Given the description of an element on the screen output the (x, y) to click on. 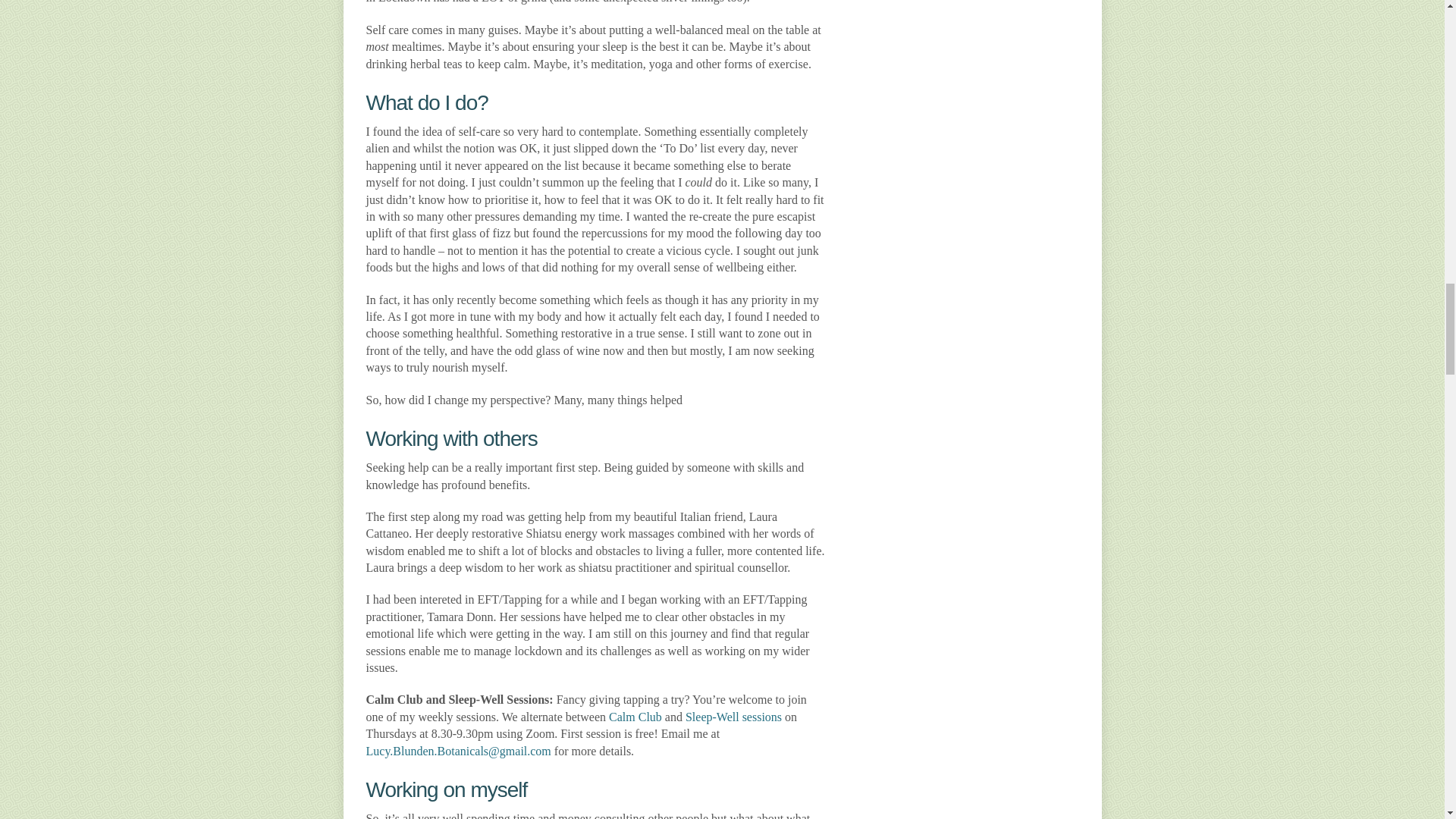
Sleep-Well sessions (733, 716)
Calm Club (635, 716)
